Given the description of an element on the screen output the (x, y) to click on. 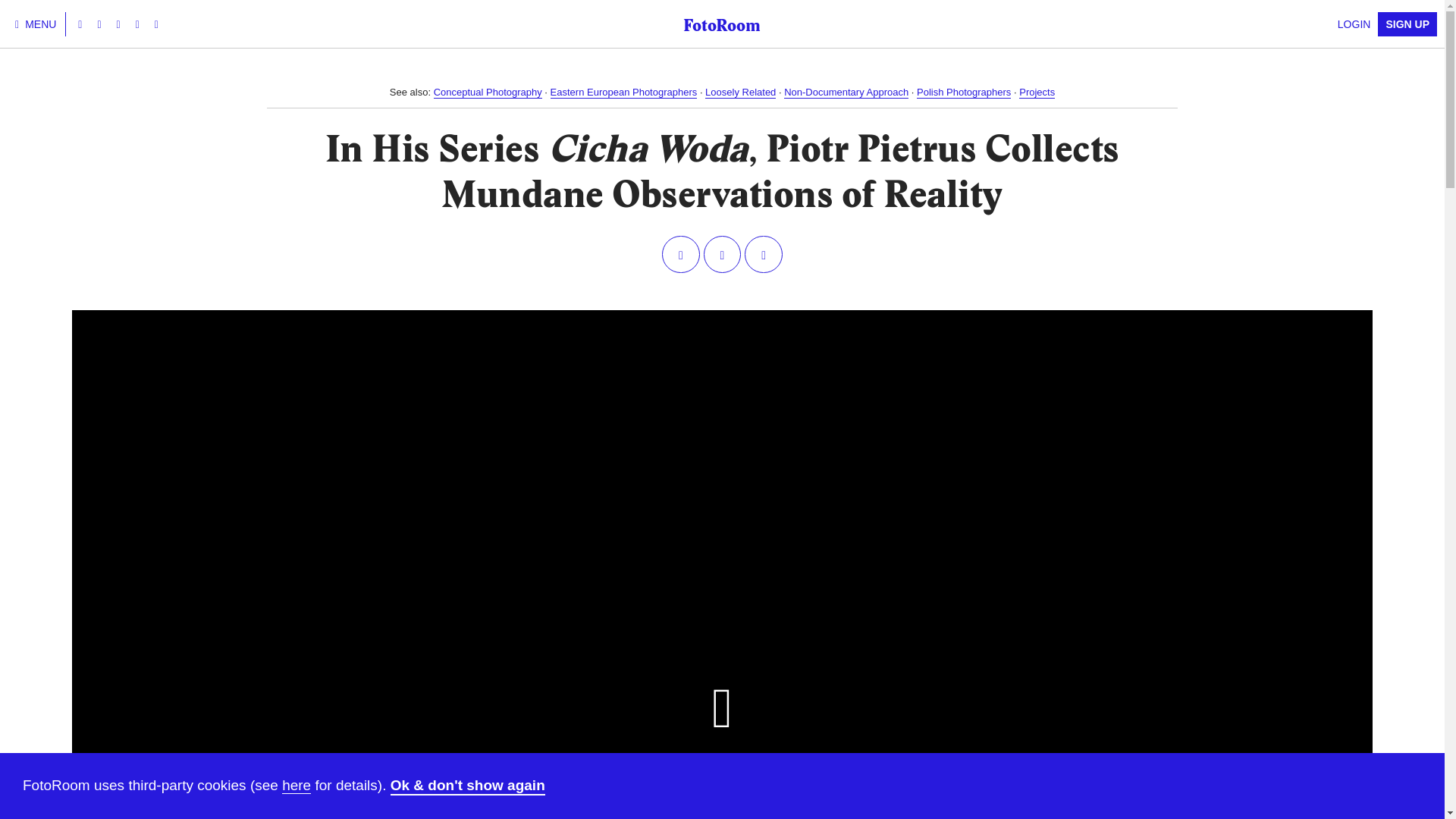
Eastern European Photographers (623, 92)
LOGIN (1354, 24)
Launch Gallery (722, 718)
FotoRoom (721, 24)
FotoRoom (721, 24)
Polish Photographers (963, 92)
Menu (36, 24)
SIGN UP (1407, 24)
Projects (1036, 92)
Conceptual Photography (487, 92)
MENU (36, 24)
Loosely Related (740, 92)
Non-Documentary Approach (846, 92)
